Given the description of an element on the screen output the (x, y) to click on. 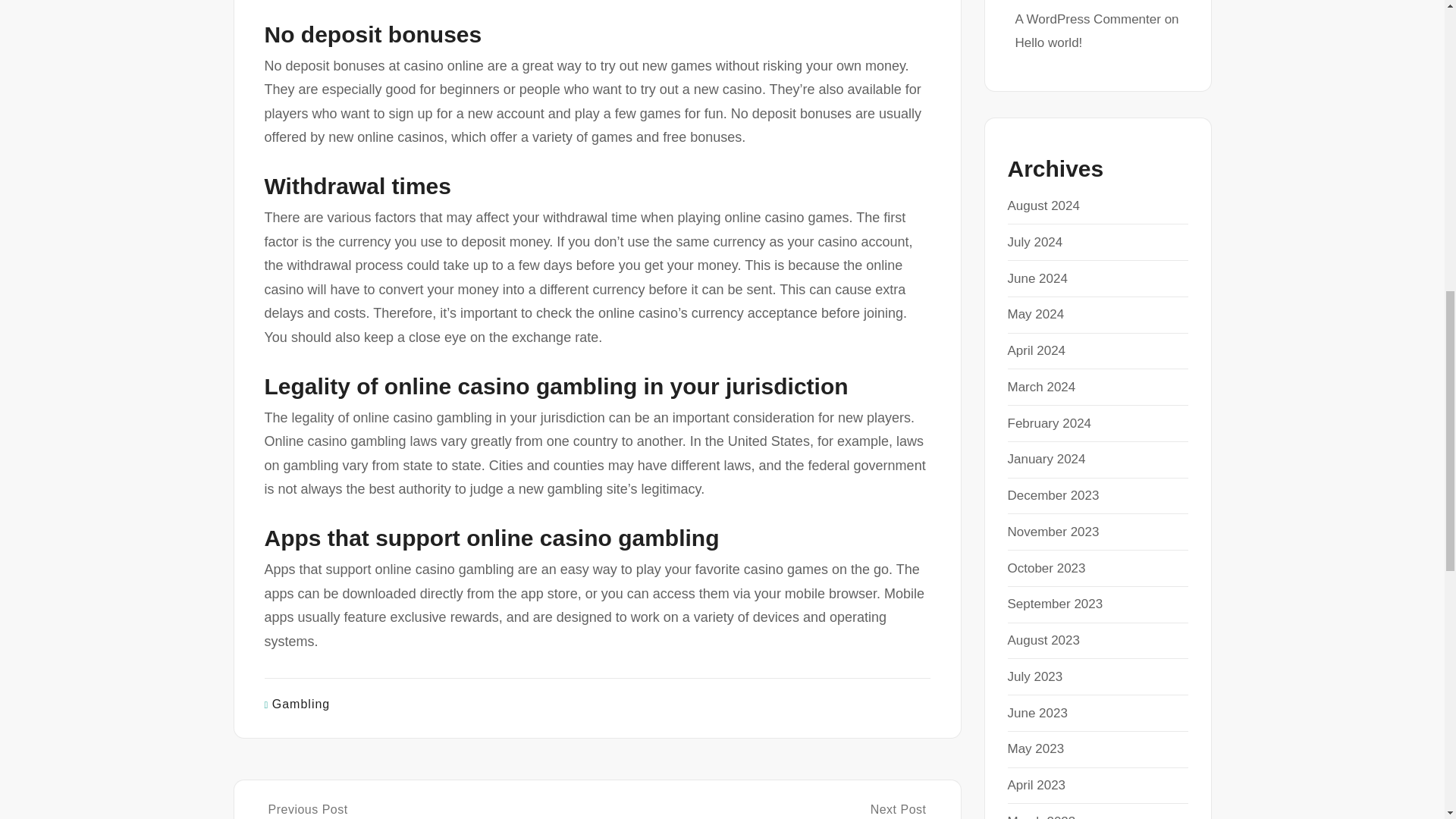
June 2023 (427, 811)
August 2023 (1037, 712)
June 2024 (1042, 640)
December 2023 (1037, 278)
November 2023 (1053, 495)
May 2024 (1053, 531)
July 2023 (1035, 314)
February 2024 (1034, 676)
